Given the description of an element on the screen output the (x, y) to click on. 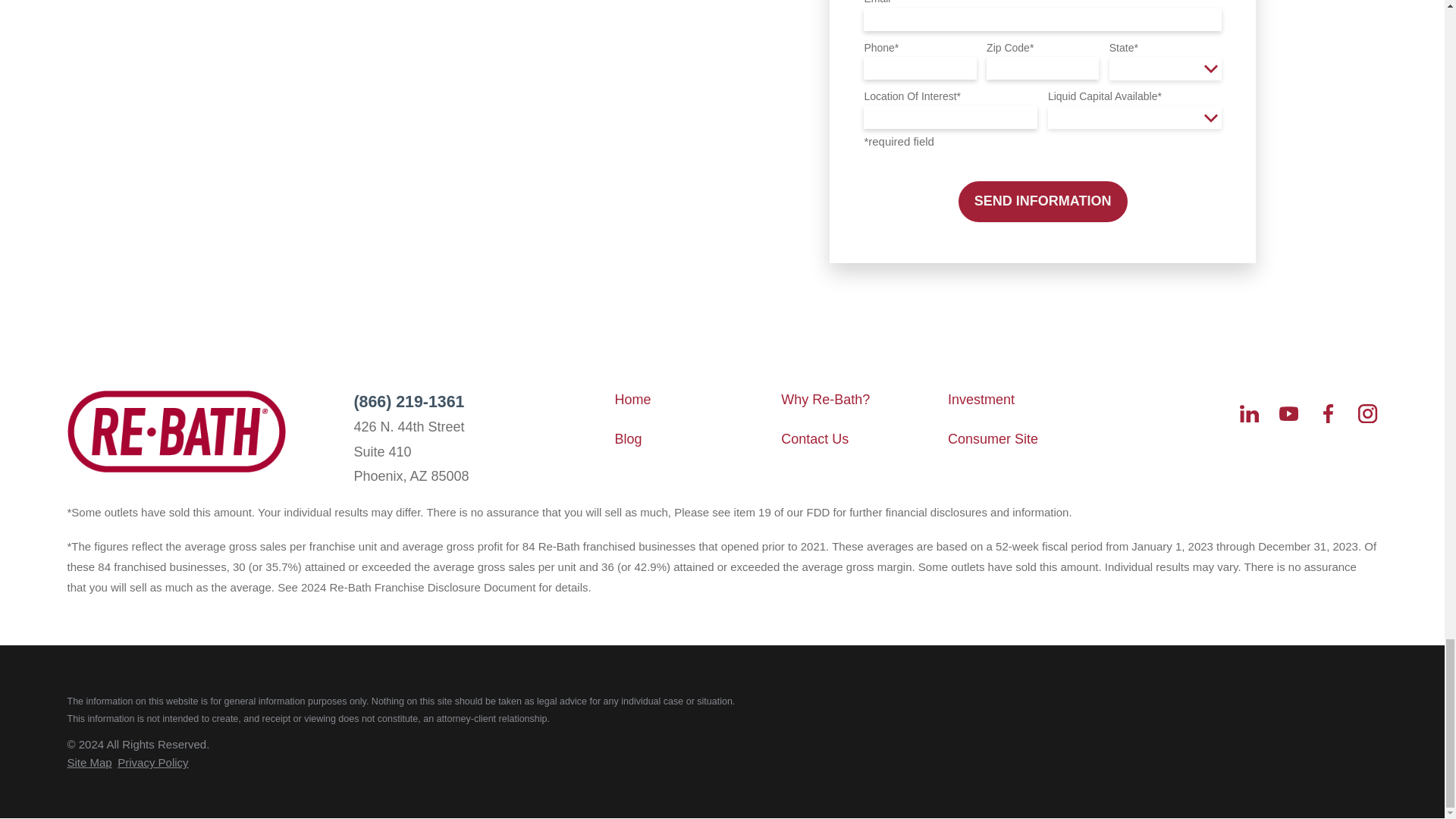
YouTube (1288, 413)
Facebook (1328, 413)
Home (175, 431)
LinkedIn (1249, 413)
